Given the description of an element on the screen output the (x, y) to click on. 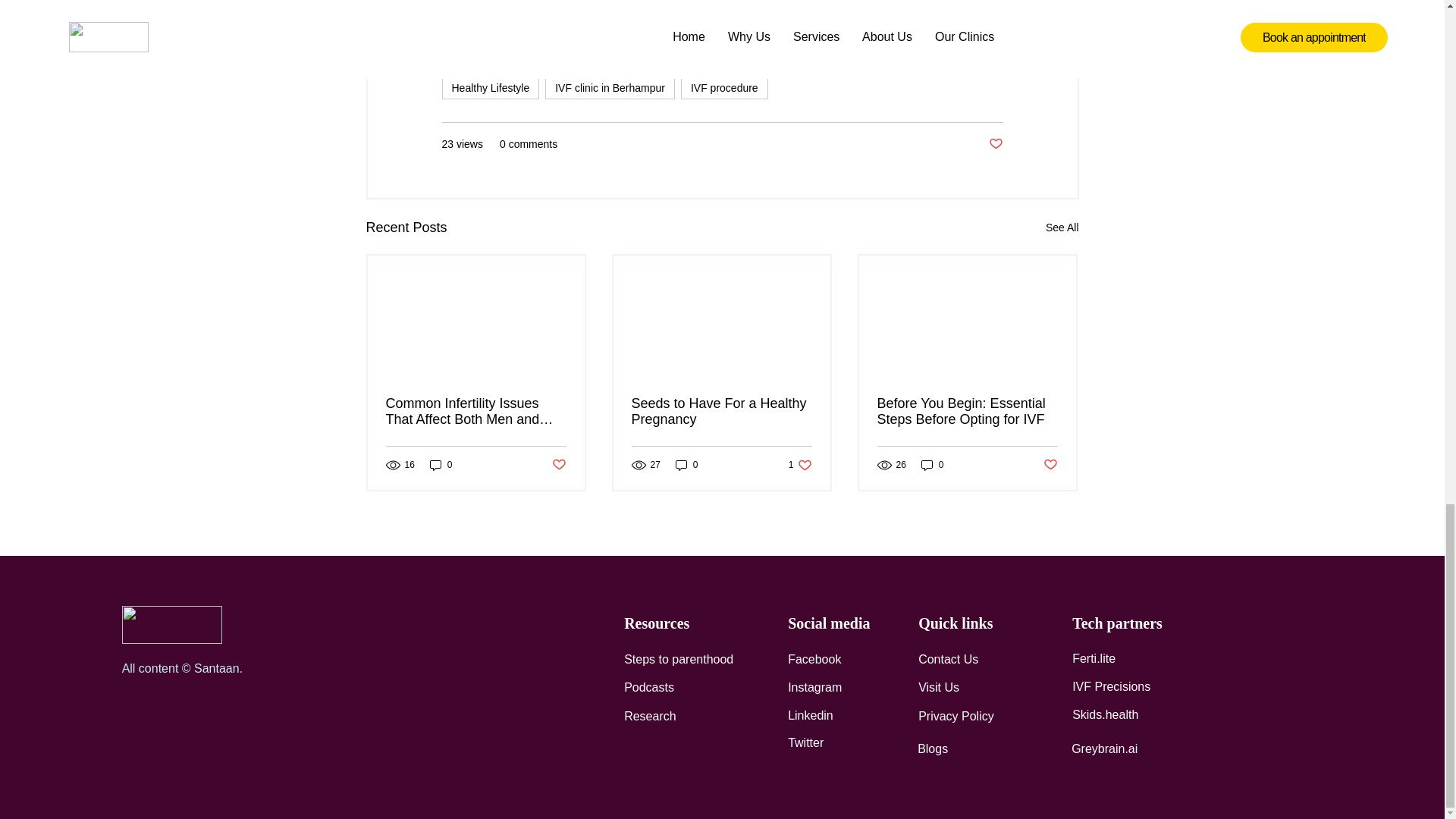
best fertility clinic in Odisha (515, 6)
Fertility Specialists in Odisha (690, 29)
IVF Treatment (633, 58)
0 (932, 464)
Before You Begin: Essential Steps Before Opting for IVF (966, 411)
Fertility clinic in Berhampur (927, 6)
0 (687, 464)
Healthy Lifestyle (489, 87)
Fertility center in Bhubaneswar (524, 29)
Post not marked as liked (995, 144)
Post not marked as liked (558, 465)
female infertility treatment (665, 6)
Logo.png (172, 624)
IVF procedure (724, 87)
IVF clinic in Berhampur (609, 87)
